Given the description of an element on the screen output the (x, y) to click on. 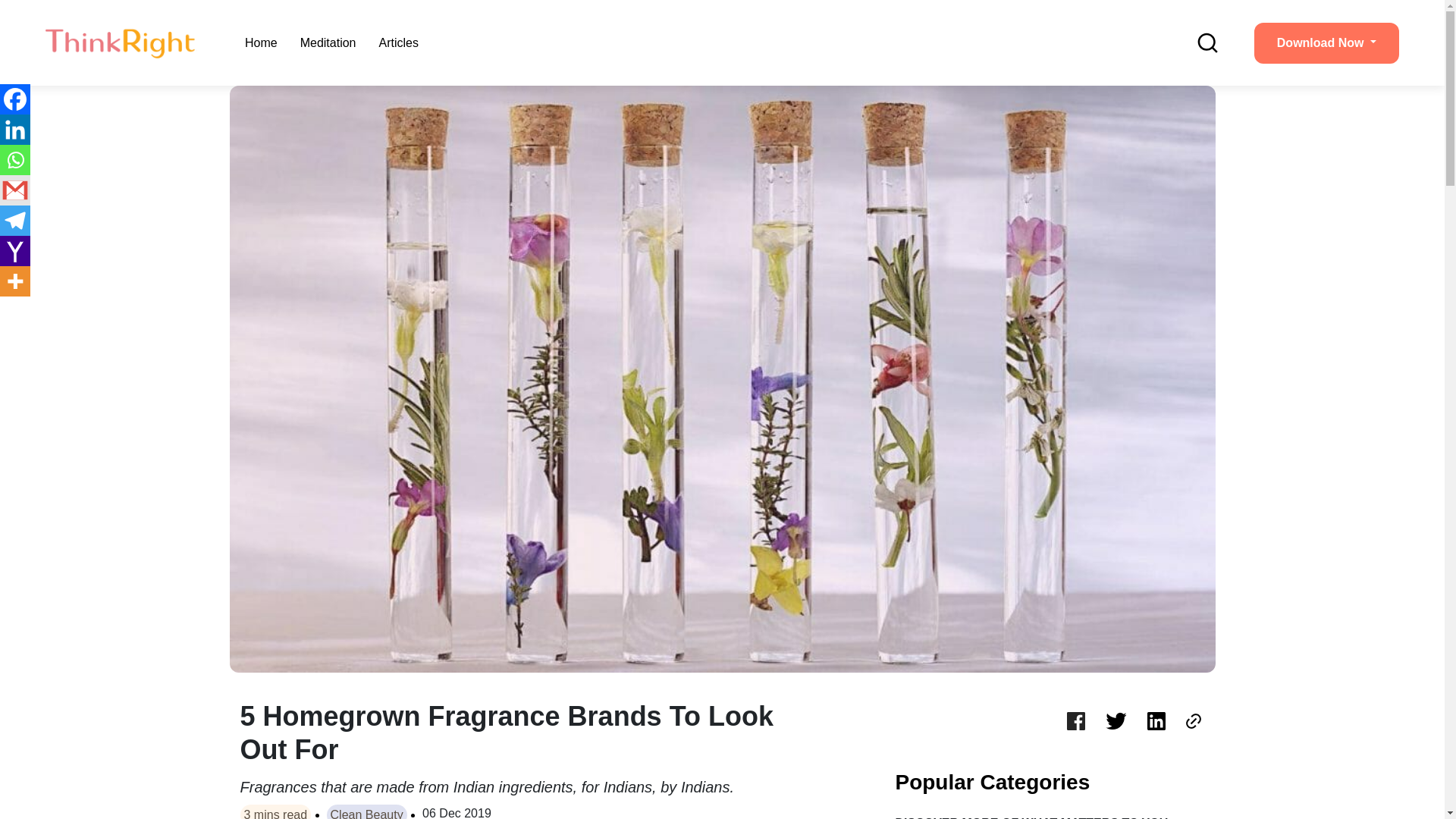
Whatsapp (15, 159)
Facebook (15, 99)
Meditation (328, 42)
Facebook (1075, 721)
Twitter (1115, 721)
Yahoo Mail (15, 250)
Telegram (15, 220)
More (15, 281)
Logo (120, 42)
Home (260, 42)
Articles (398, 42)
Linkedin (15, 129)
Google Gmail (15, 190)
Download Now (1326, 42)
